Given the description of an element on the screen output the (x, y) to click on. 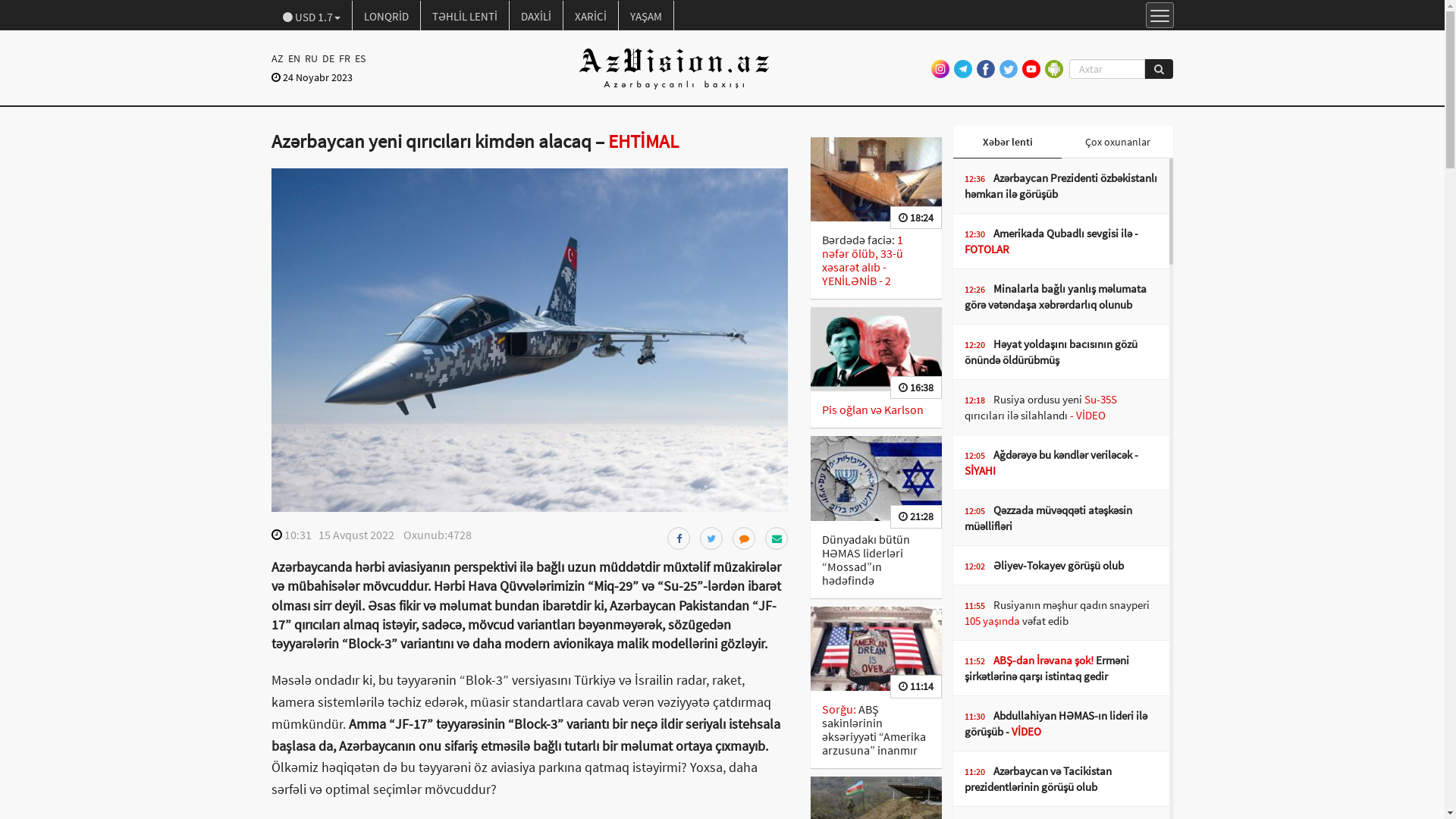
EN Element type: text (293, 58)
USD 1.7 Element type: text (311, 15)
ES Element type: text (359, 58)
RU Element type: text (310, 58)
AZ Element type: text (278, 58)
FR Element type: text (344, 58)
DE Element type: text (328, 58)
